Given the description of an element on the screen output the (x, y) to click on. 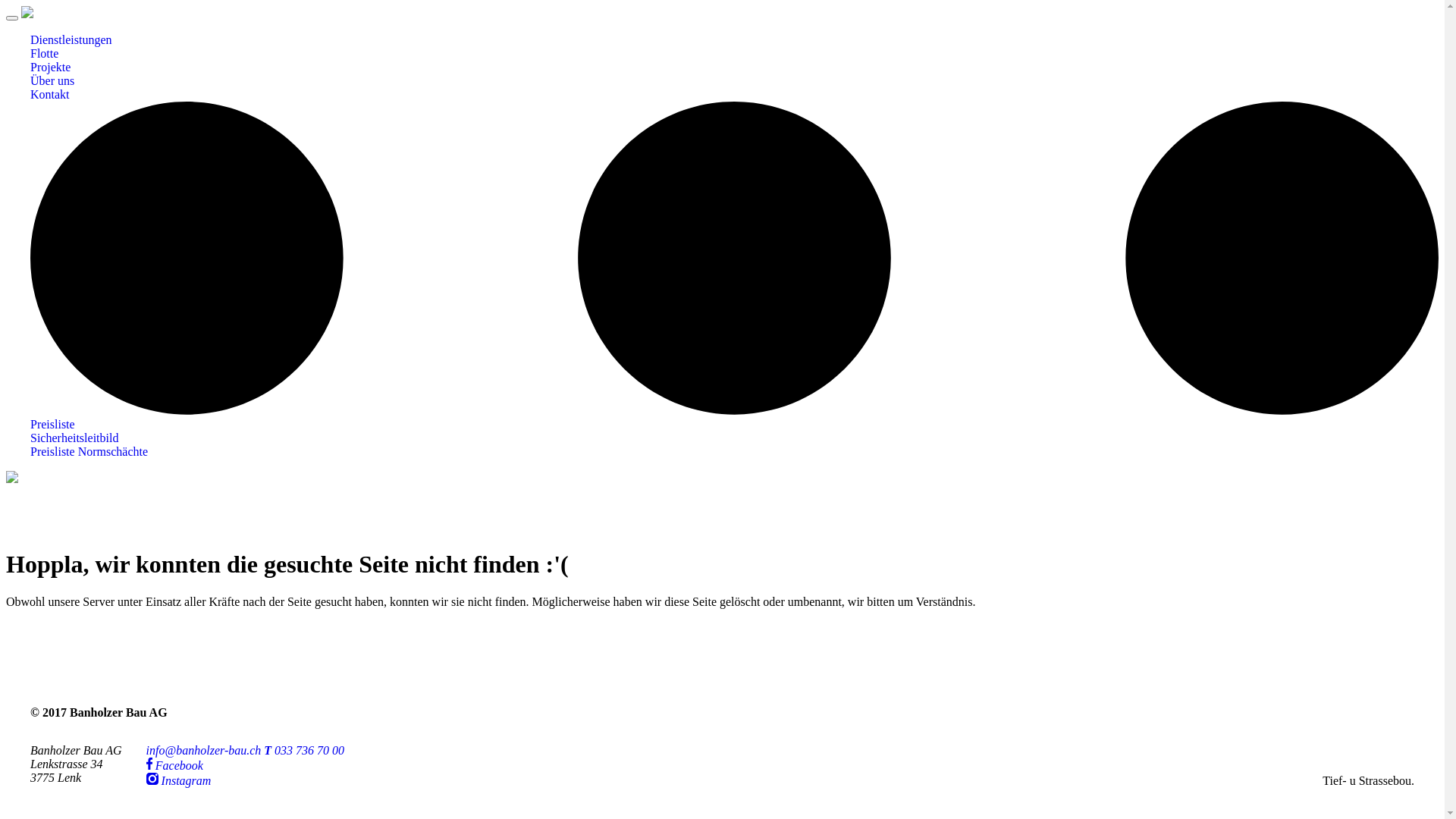
Preisliste Element type: text (734, 424)
Kontakt Element type: text (734, 94)
Sicherheitsleitbild Element type: text (734, 438)
Flotte Element type: text (734, 53)
info@banholzer-bau.ch Element type: text (203, 749)
T 033 736 70 00 Element type: text (303, 749)
Projekte Element type: text (734, 67)
Dienstleistungen Element type: text (734, 40)
